Given the description of an element on the screen output the (x, y) to click on. 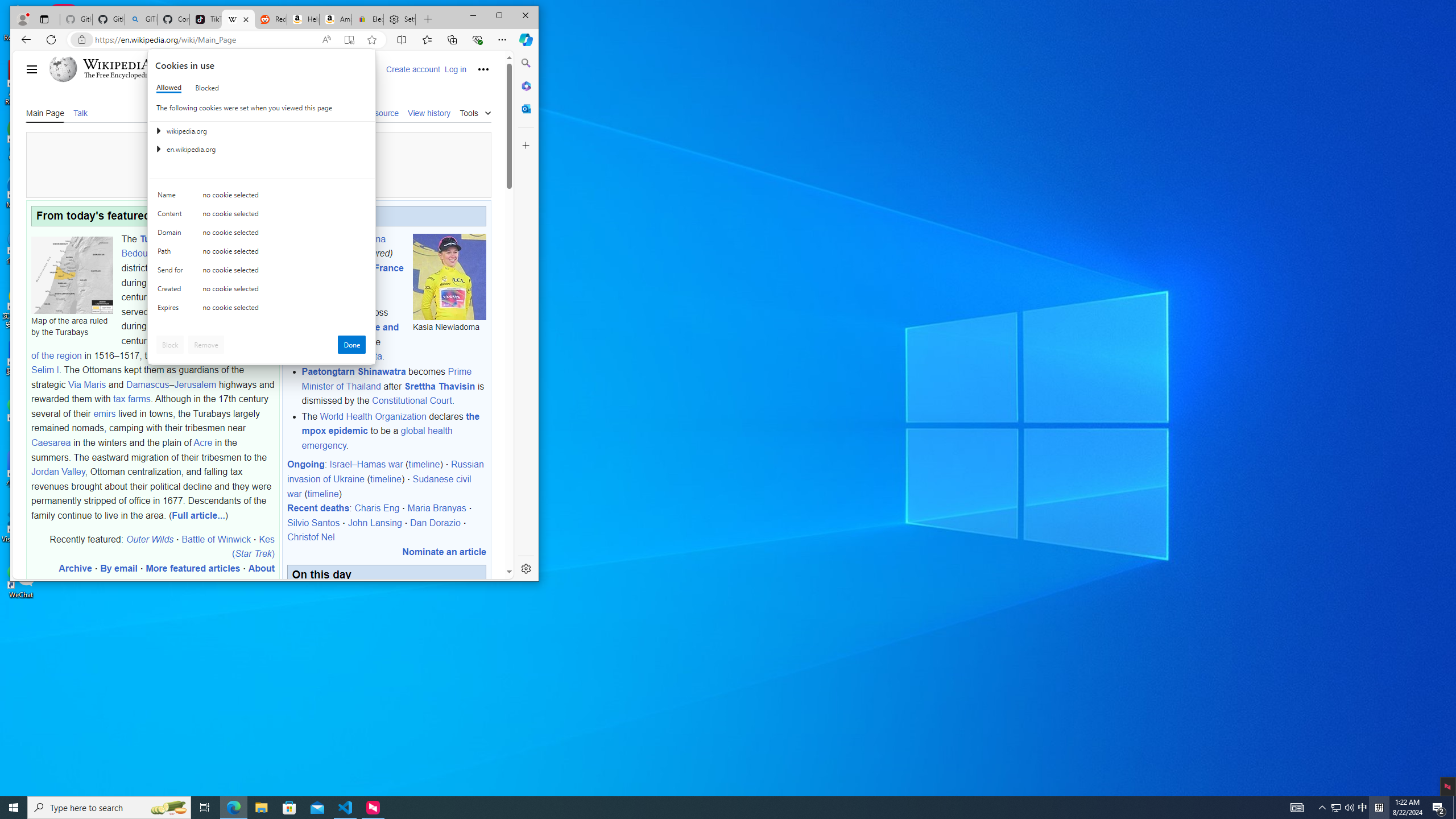
Created (172, 291)
File Explorer (261, 807)
Task View (204, 807)
AutomationID: 4105 (1297, 807)
Start (13, 807)
Tray Input Indicator - Chinese (Simplified, China) (1378, 807)
Blocked (206, 87)
Type here to search (108, 807)
Class: c0153 c0157 c0154 (261, 197)
Expires (172, 310)
Running applications (1335, 807)
no cookie selected (707, 807)
User Promoted Notification Area (284, 310)
